Given the description of an element on the screen output the (x, y) to click on. 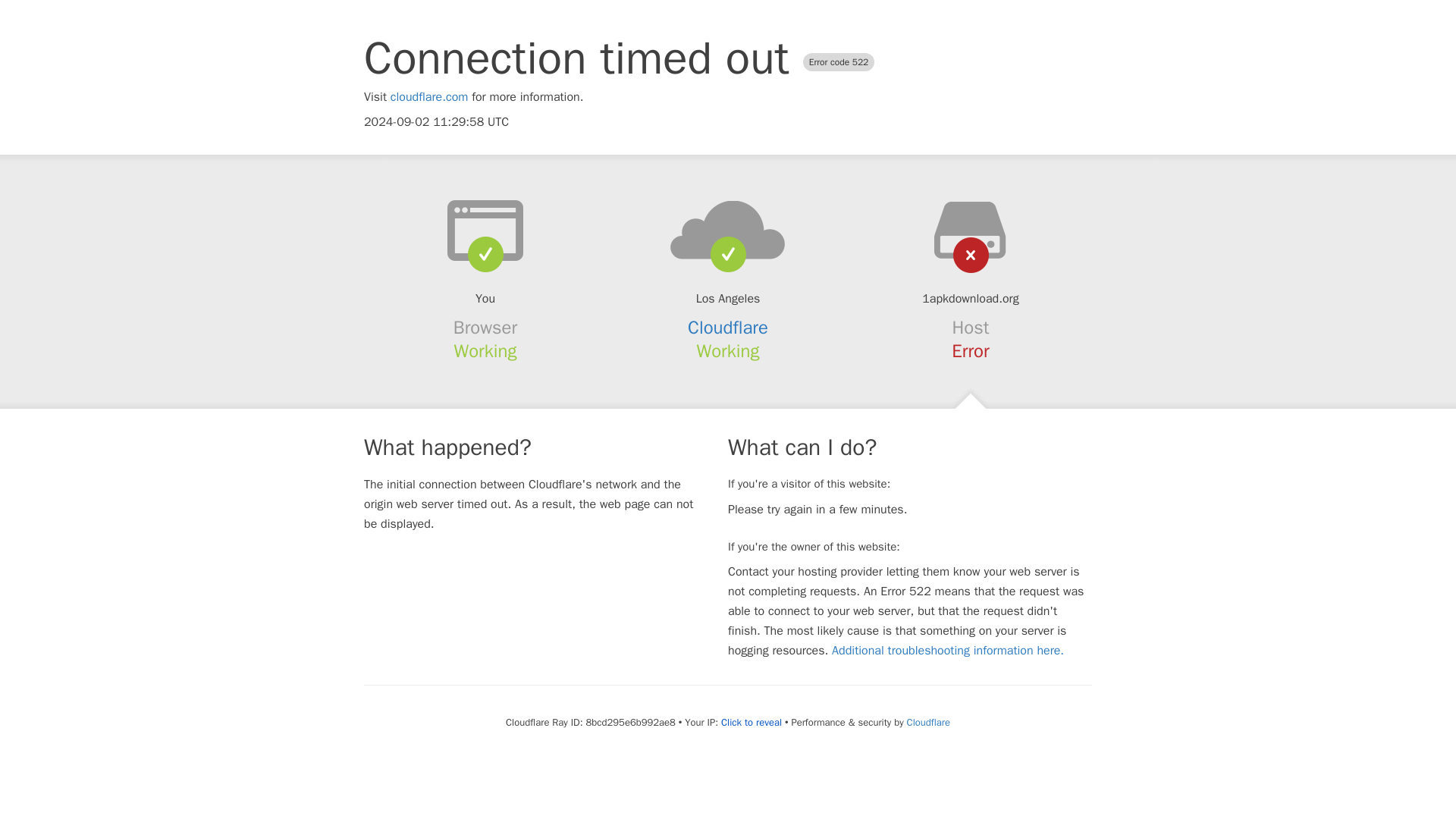
Additional troubleshooting information here. (947, 650)
cloudflare.com (429, 96)
Cloudflare (928, 721)
Click to reveal (750, 722)
Cloudflare (727, 327)
